Given the description of an element on the screen output the (x, y) to click on. 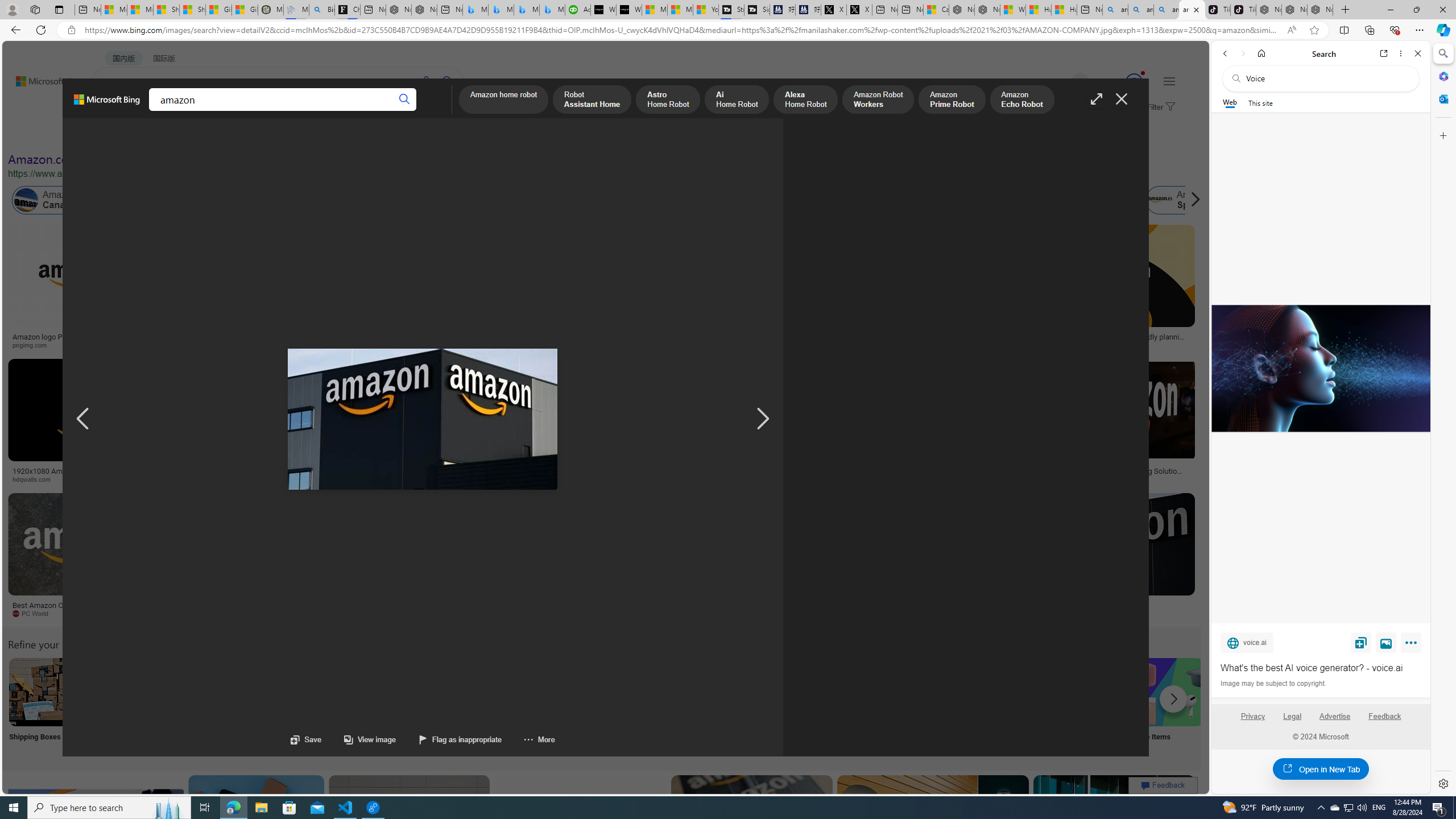
Amazon.com.au (923, 199)
downdetector.ae (869, 344)
voice.ai (1247, 642)
Outlook (1442, 98)
Amazon Spain (1183, 199)
Amazon Online Shopping Search Online Shopping Search (118, 706)
Amazon Mini TV (794, 691)
Amazon Spain (1159, 200)
Home (1261, 53)
Amazon Visa Card Login Visa Card Login (1093, 706)
DICT (357, 111)
VIDEOS (260, 111)
Amazon.com.au (881, 200)
Shipping Boxes (42, 706)
